Given the description of an element on the screen output the (x, y) to click on. 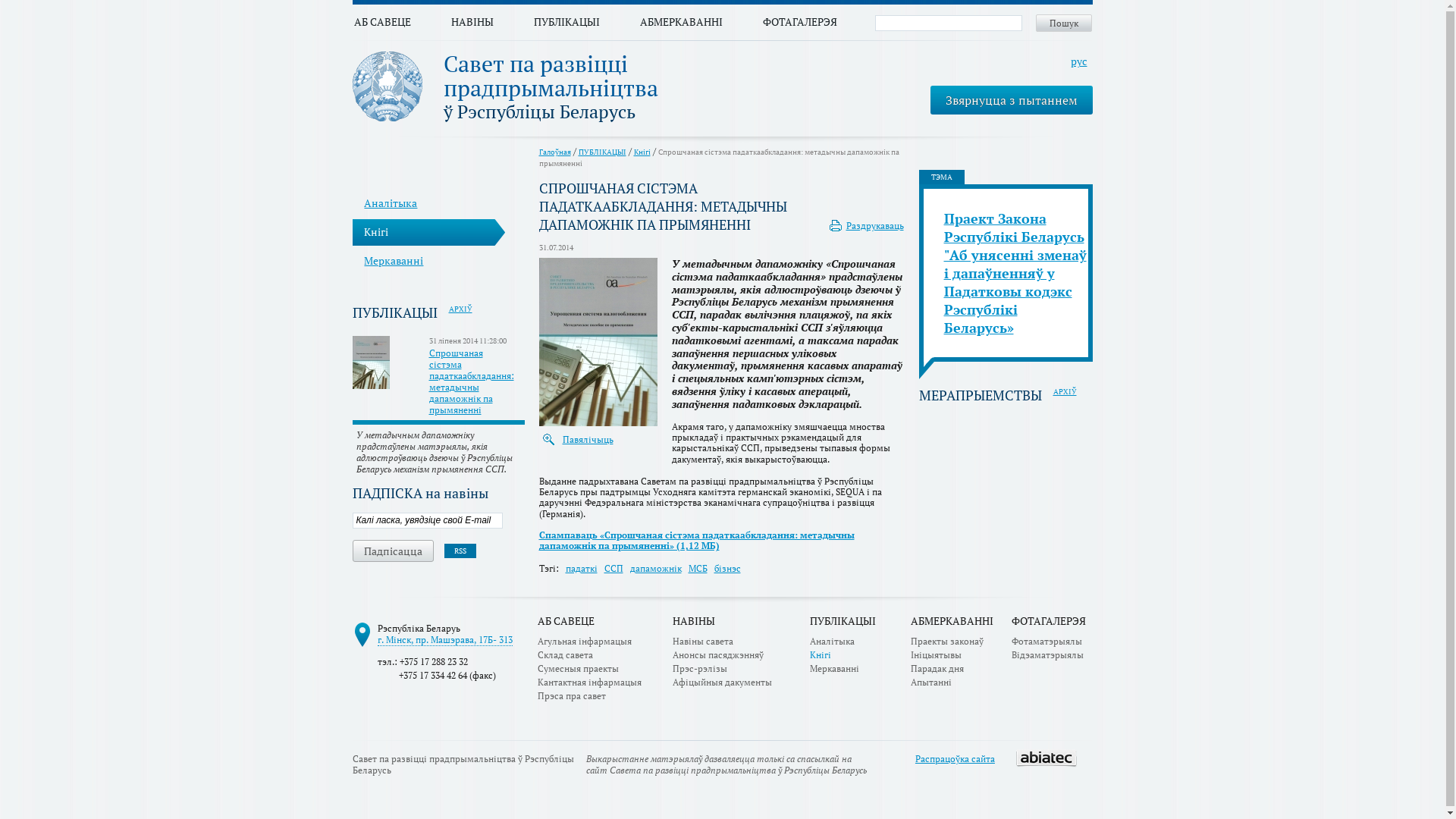
RSS Element type: text (460, 550)
